Given the description of an element on the screen output the (x, y) to click on. 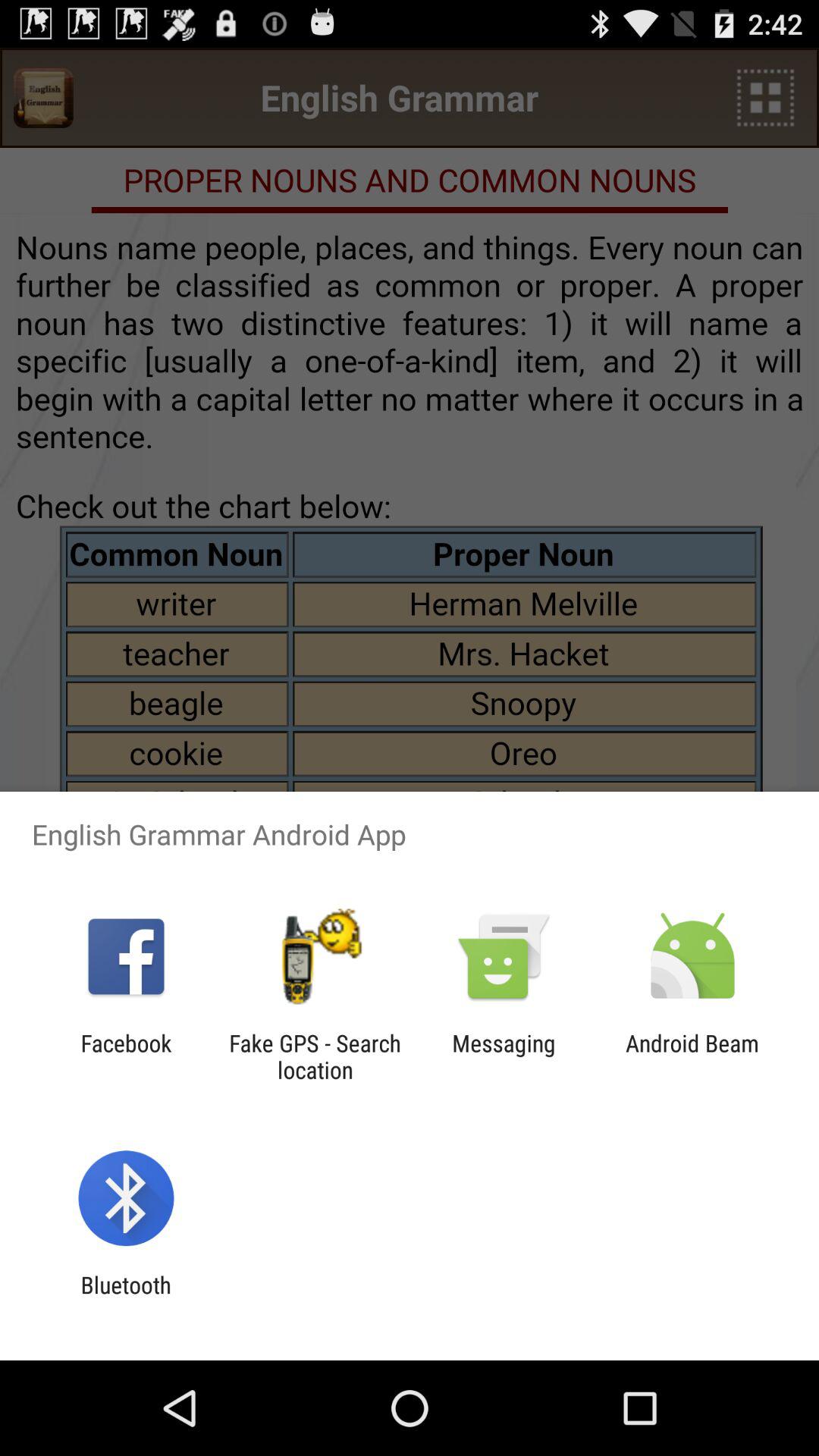
click icon to the left of the android beam app (503, 1056)
